Given the description of an element on the screen output the (x, y) to click on. 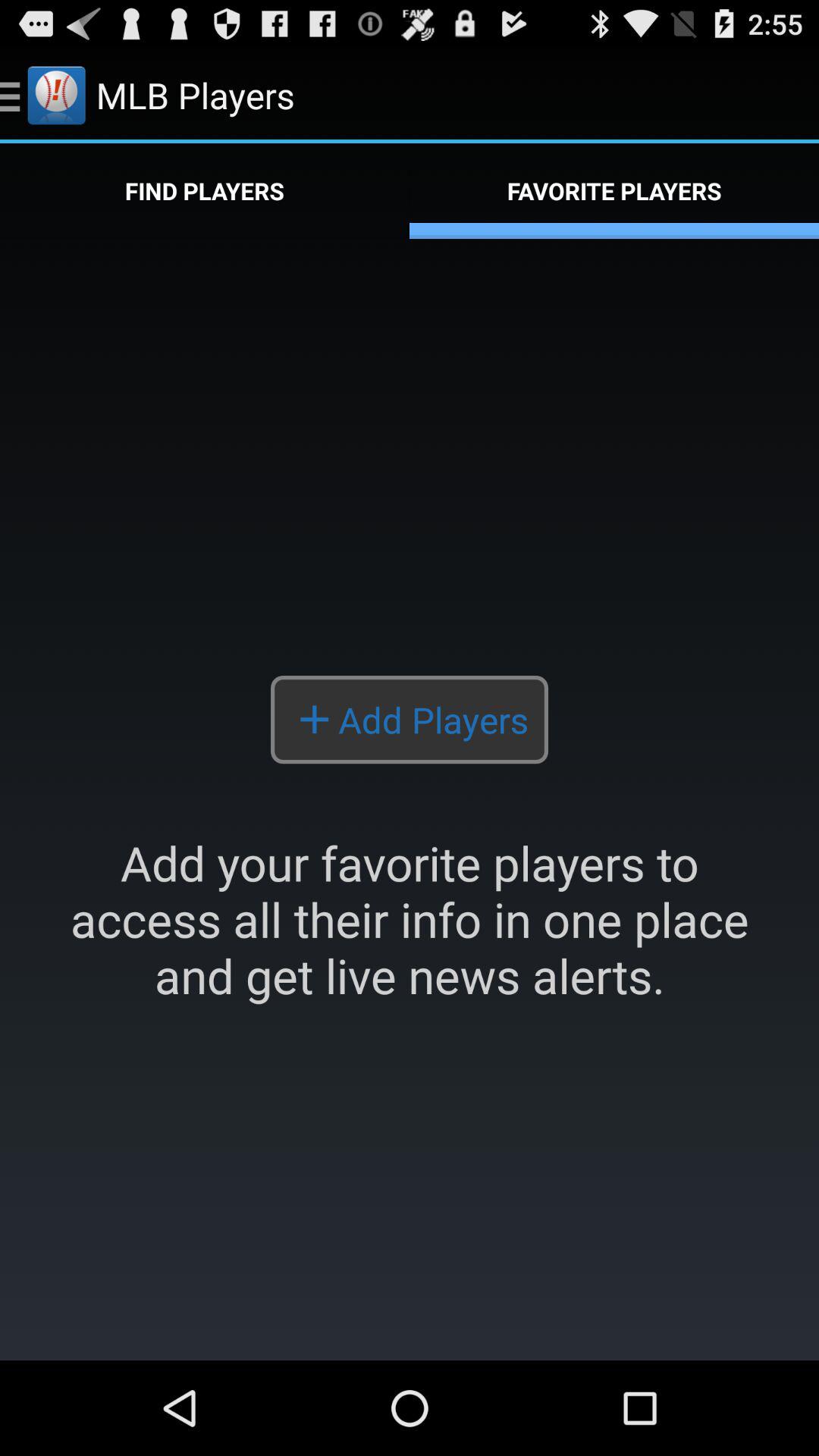
turn off the app to the left of the favorite players app (204, 190)
